Given the description of an element on the screen output the (x, y) to click on. 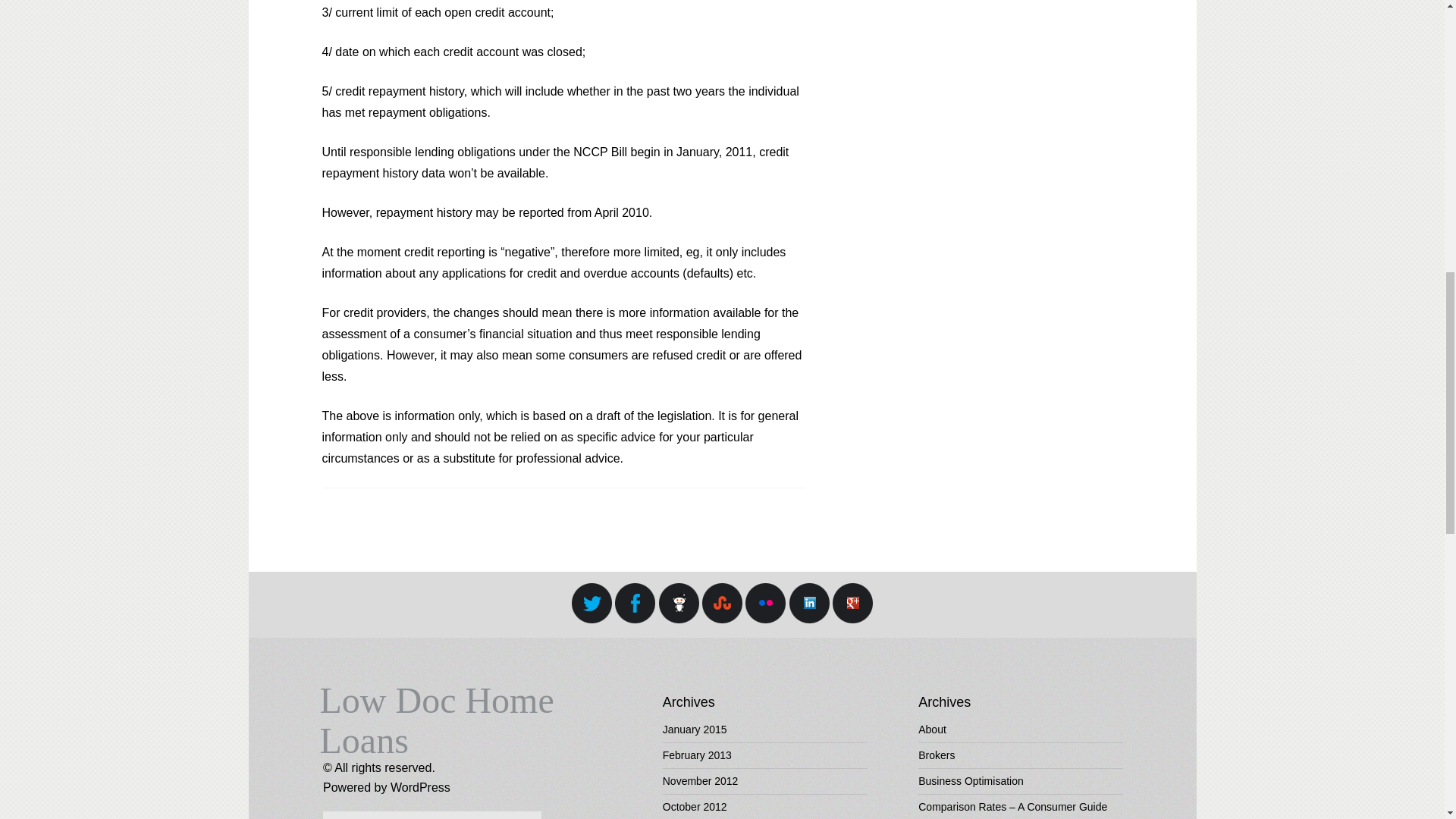
Search for: (432, 815)
A Semantic Personal Publishing Platform (419, 787)
